Given the description of an element on the screen output the (x, y) to click on. 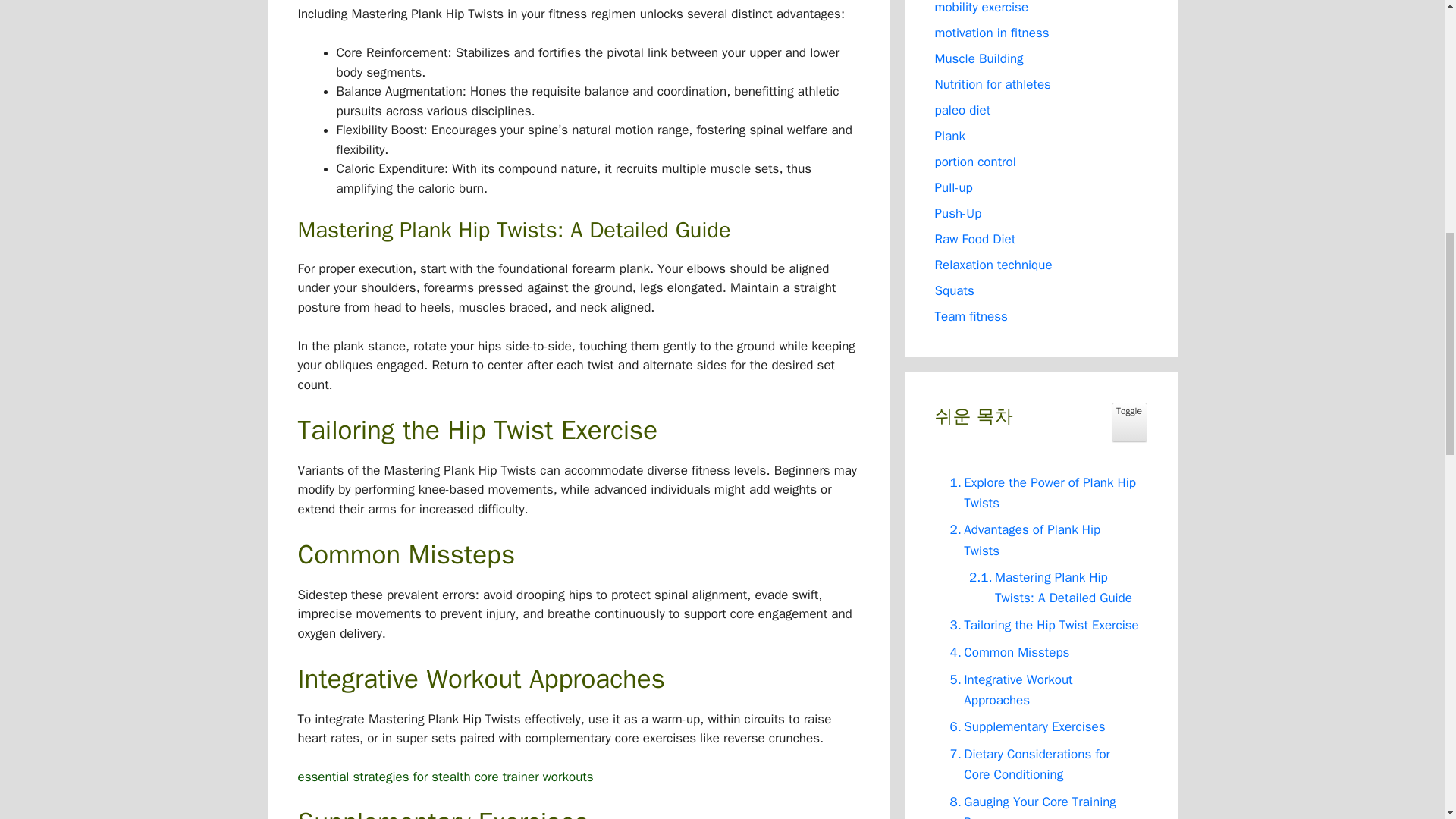
essential strategies for stealth core trainer workouts (444, 776)
Mastering Plank Hip Twists: A Detailed Guide (1050, 587)
Explore the Power of Plank Hip Twists (1040, 491)
Advantages of Plank Hip Twists (1040, 539)
Tailoring the Hip Twist Exercise (1040, 625)
